Given the description of an element on the screen output the (x, y) to click on. 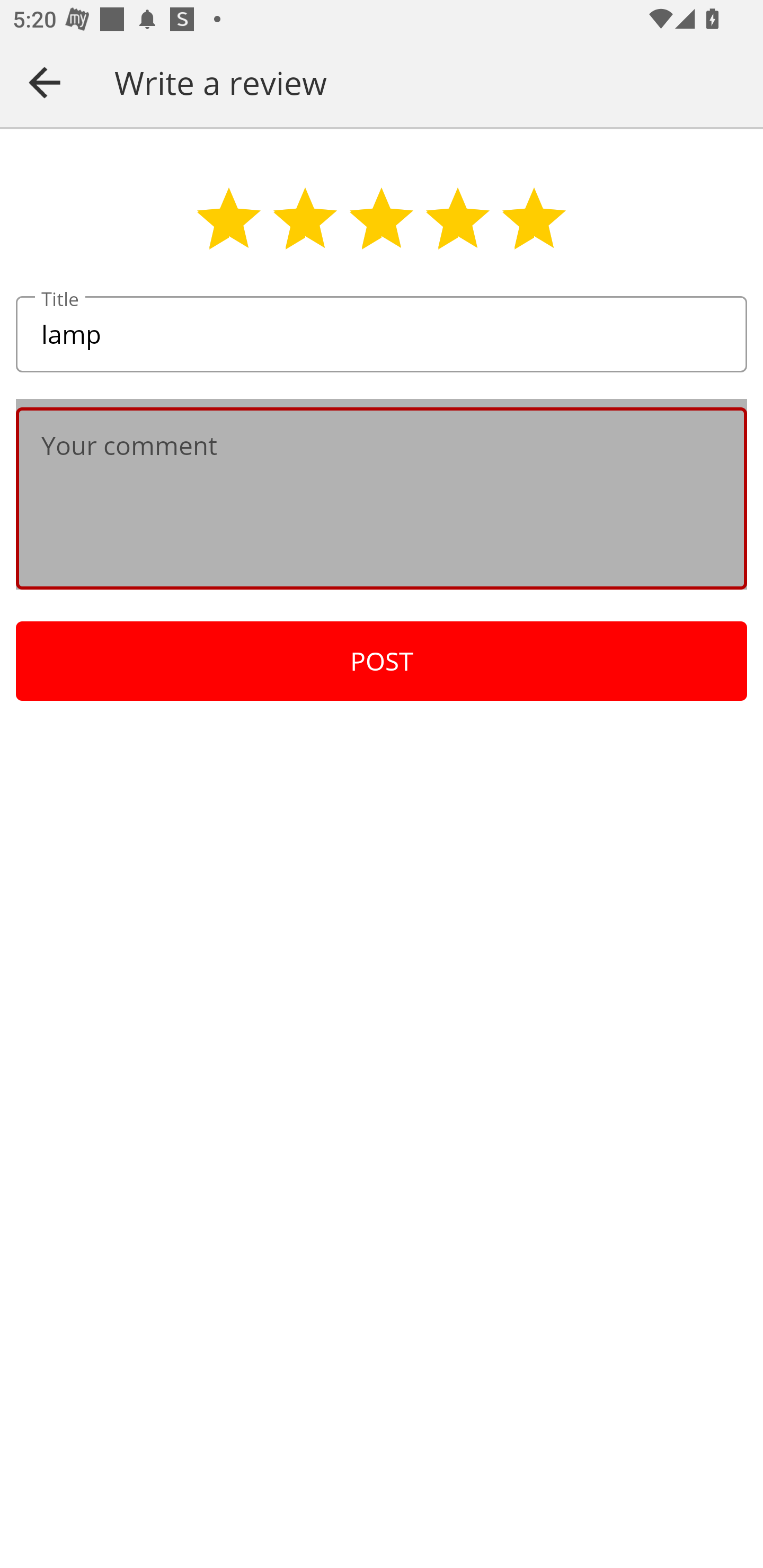
Navigate up (44, 82)
lamp (381, 334)
Your comment (381, 498)
POST (381, 660)
